Given the description of an element on the screen output the (x, y) to click on. 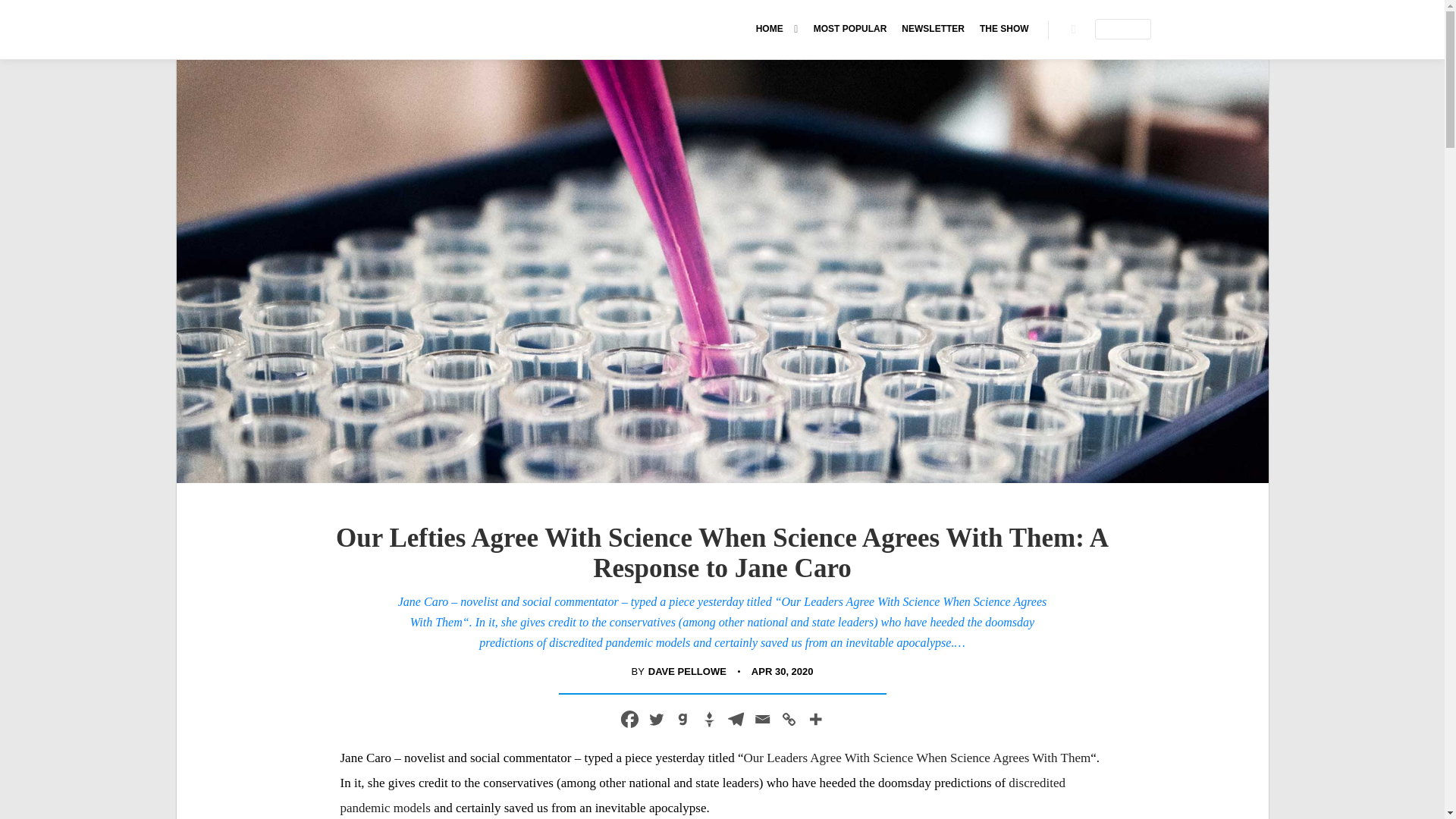
THE SHOW (1004, 29)
HELP US (1122, 28)
discredited pandemic models (701, 794)
Gettr (708, 719)
MOST POPULAR (850, 29)
NEWSLETTER (932, 29)
Email (762, 719)
More (815, 719)
Our Leaders Agree With Science When Science Agrees With Them (917, 757)
Twitter (656, 719)
